Given the description of an element on the screen output the (x, y) to click on. 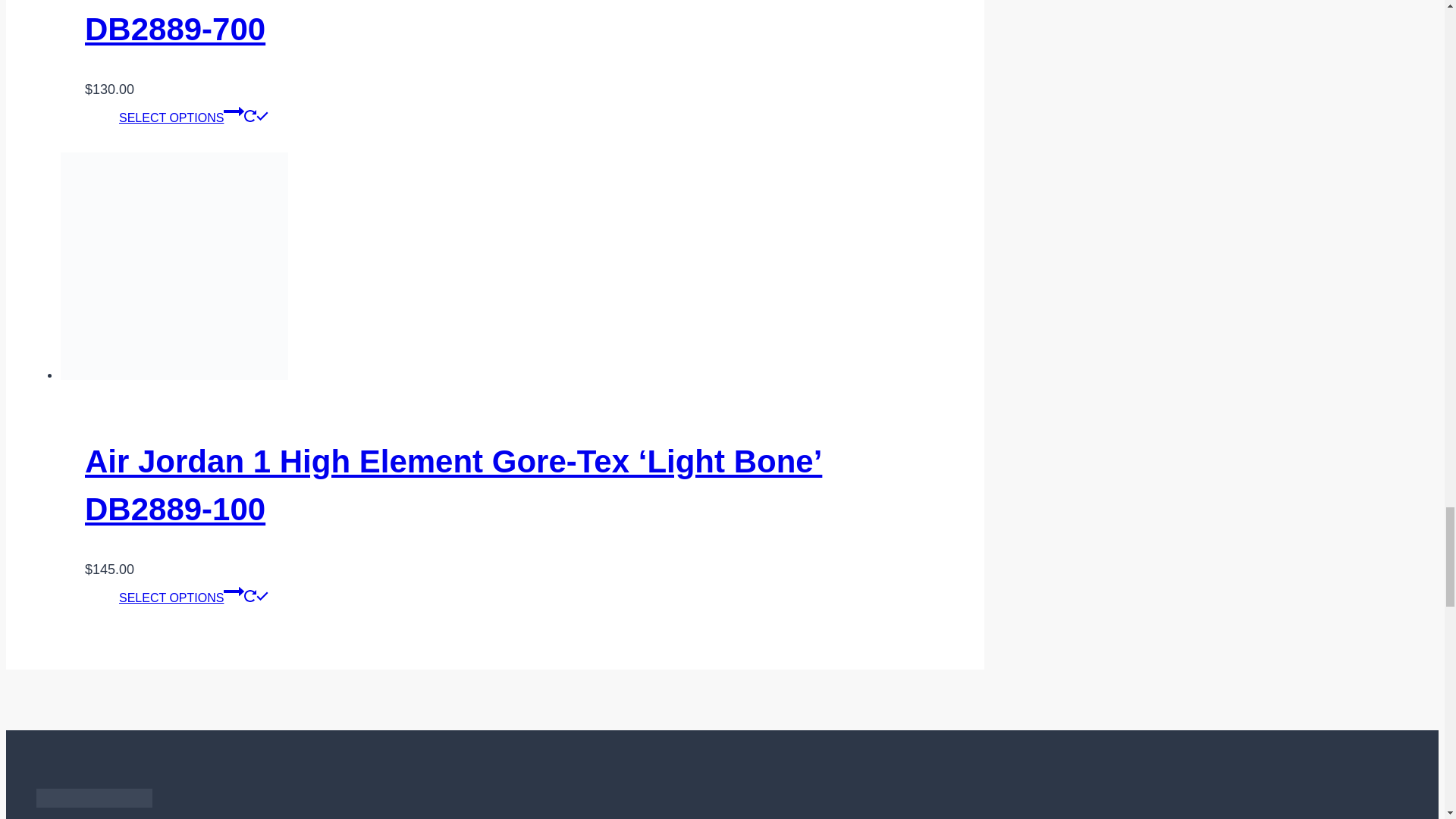
CONTINUE (234, 590)
CONTINUE (234, 111)
DONE (261, 115)
LOADING (250, 115)
LOADING (250, 595)
